Given the description of an element on the screen output the (x, y) to click on. 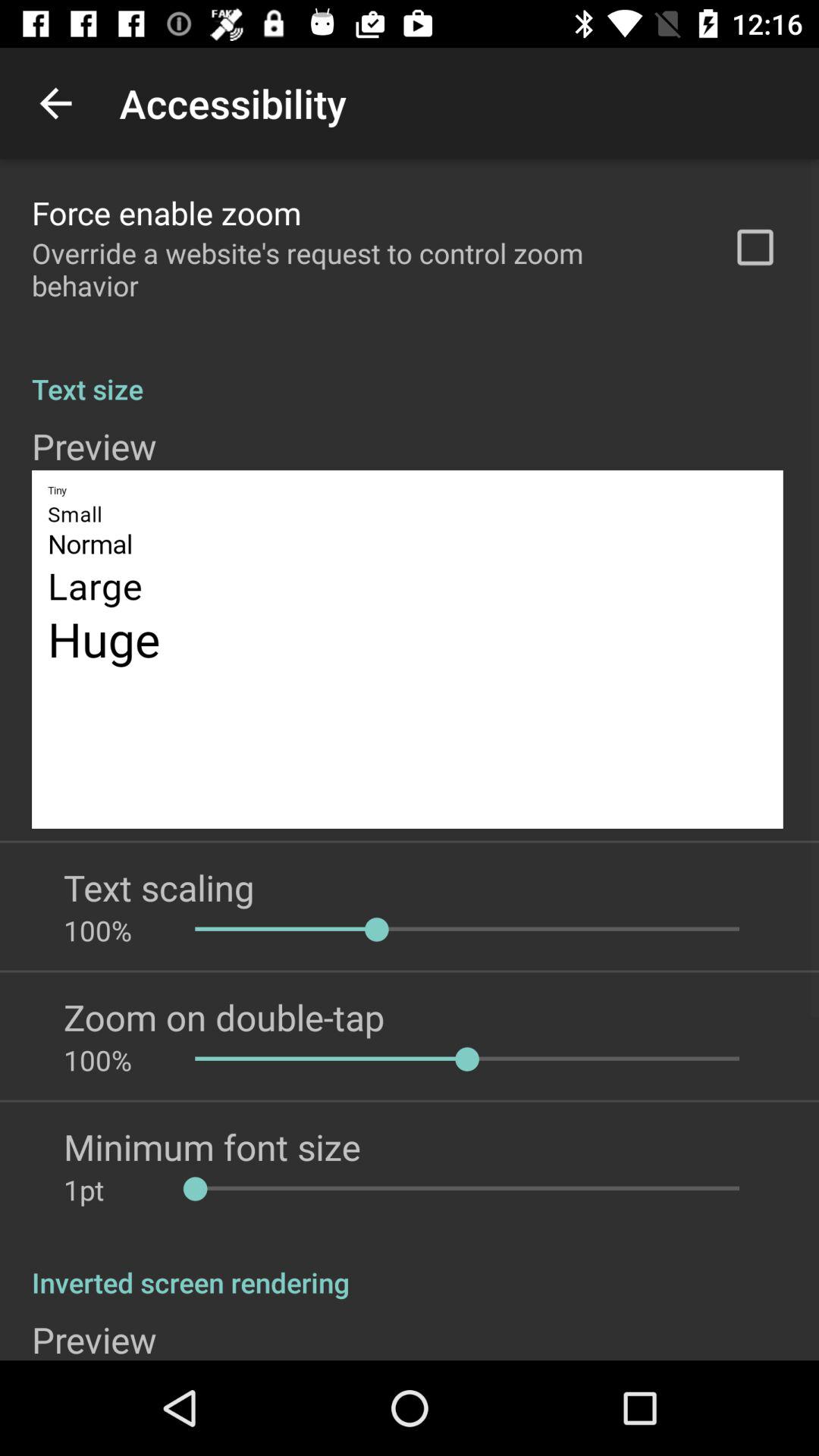
choose the checkbox at the top right corner (755, 247)
